Given the description of an element on the screen output the (x, y) to click on. 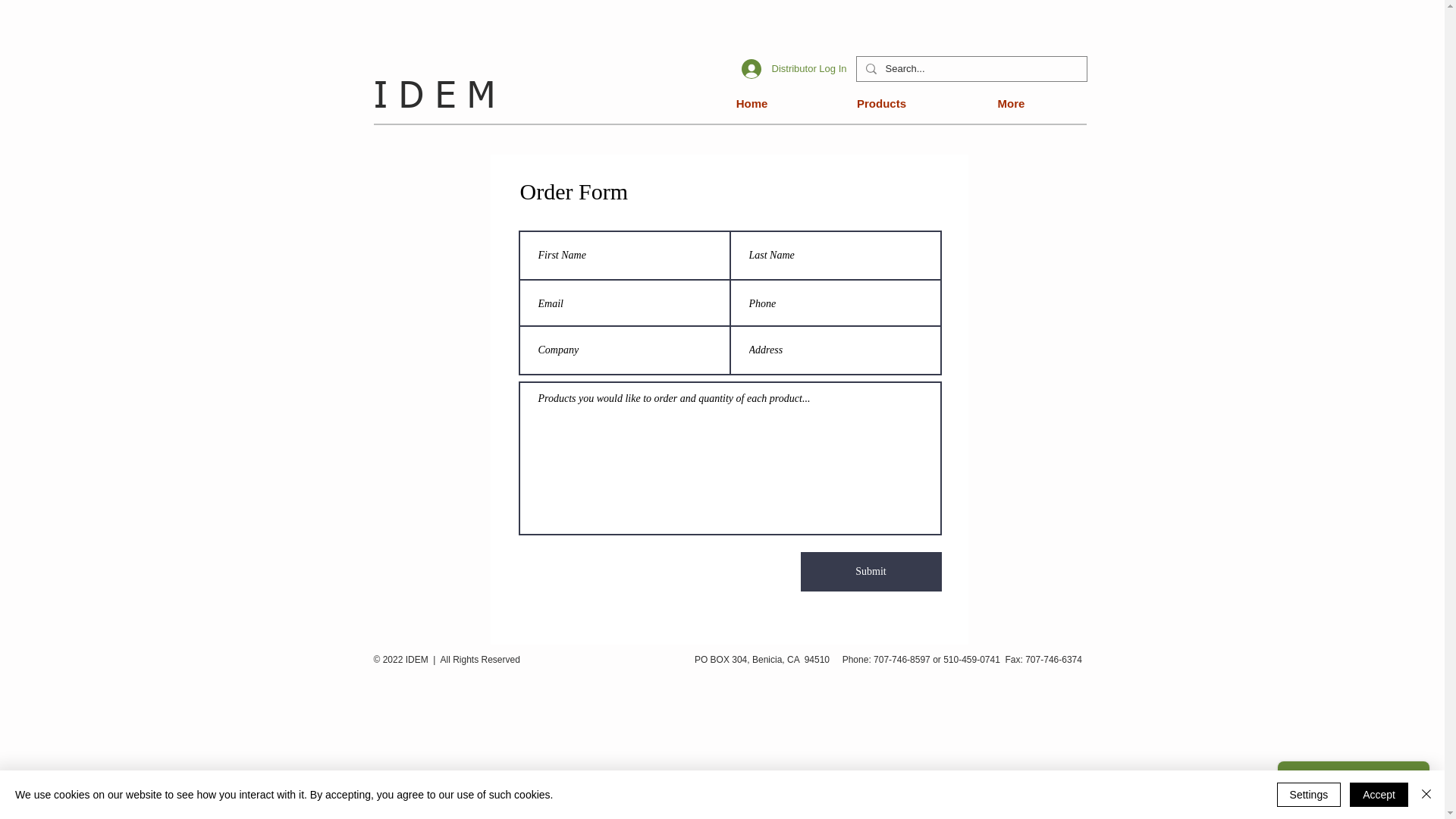
Home Element type: text (729, 103)
Submit Element type: text (870, 571)
Products Element type: text (858, 103)
I D E M Element type: text (433, 97)
Distributor Log In Element type: text (794, 68)
Accept Element type: text (1378, 794)
Settings Element type: text (1309, 794)
